Given the description of an element on the screen output the (x, y) to click on. 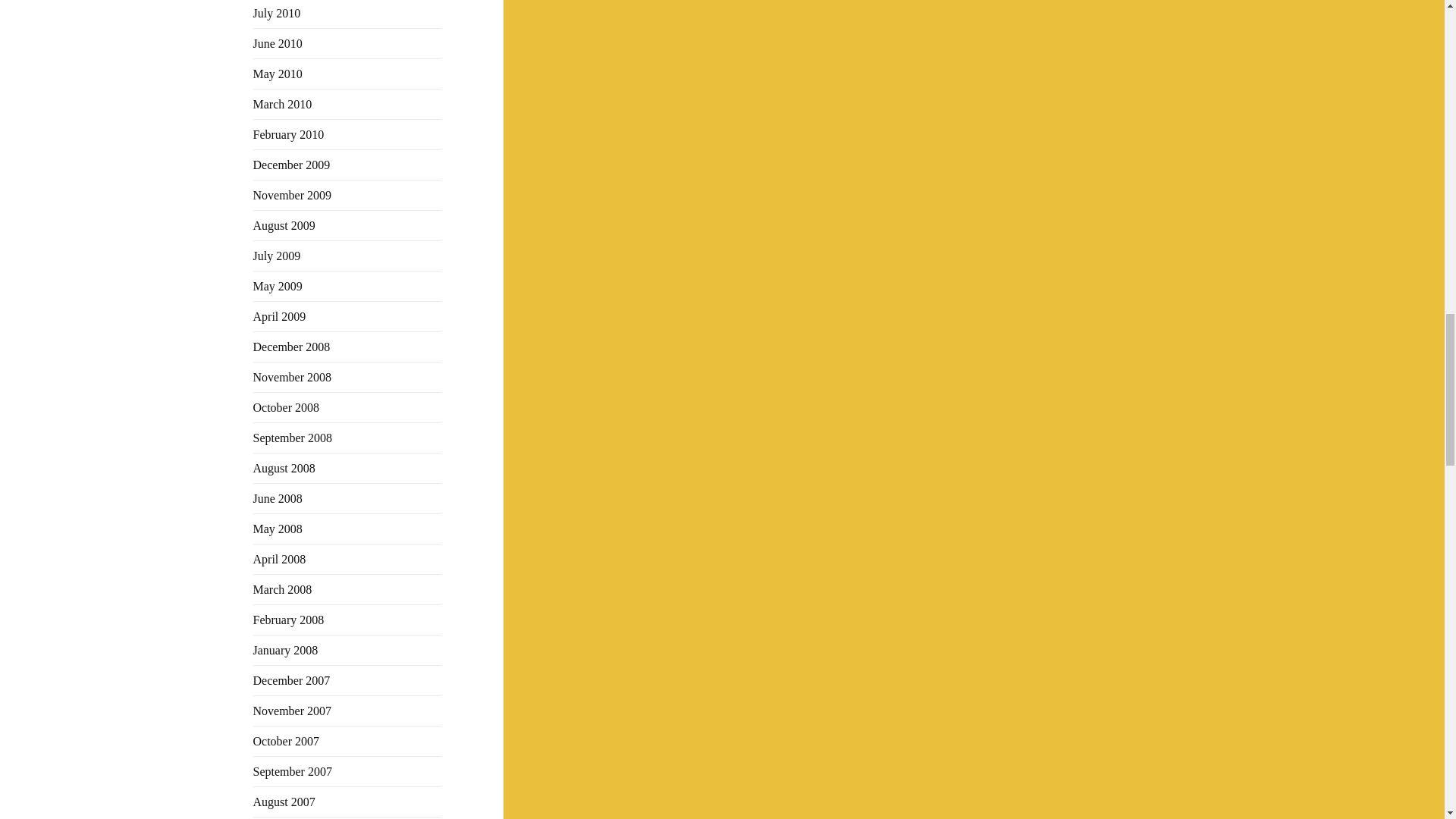
July 2010 (277, 12)
